Given the description of an element on the screen output the (x, y) to click on. 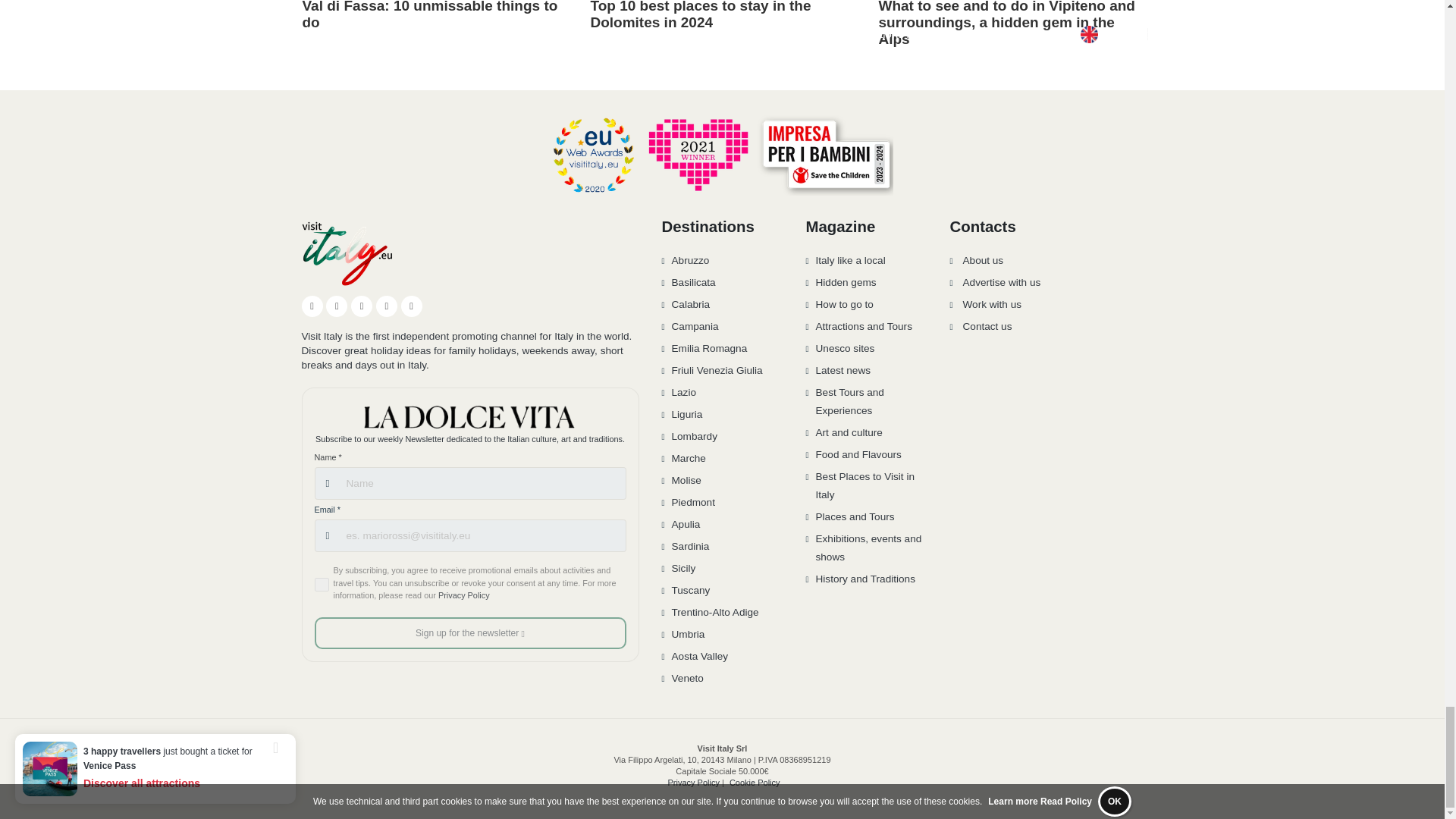
TikTok (386, 305)
Facebook (312, 305)
Spotify (411, 305)
YouTube (361, 305)
Instagram (336, 305)
